Given the description of an element on the screen output the (x, y) to click on. 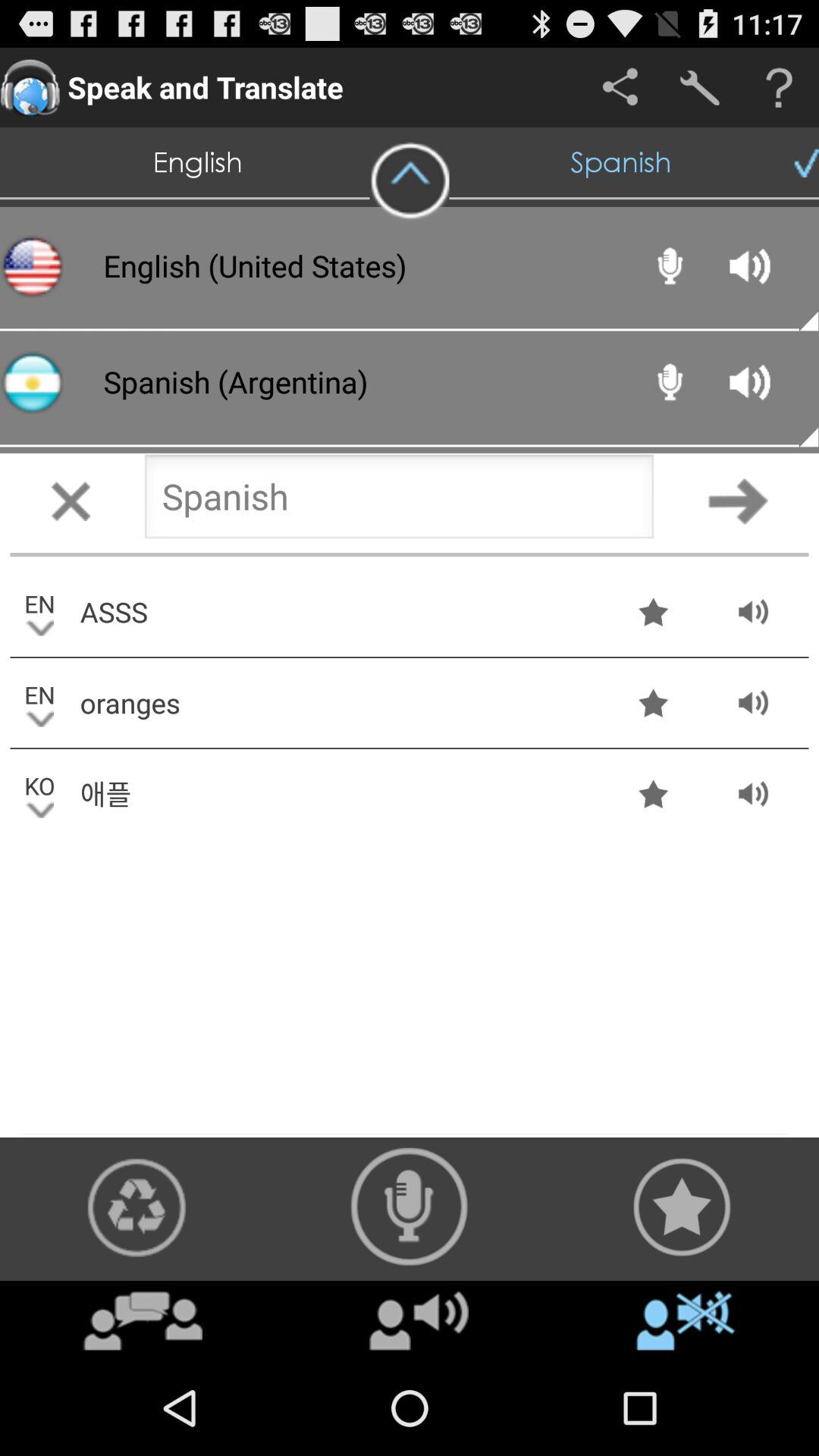
go to setting (699, 87)
